Given the description of an element on the screen output the (x, y) to click on. 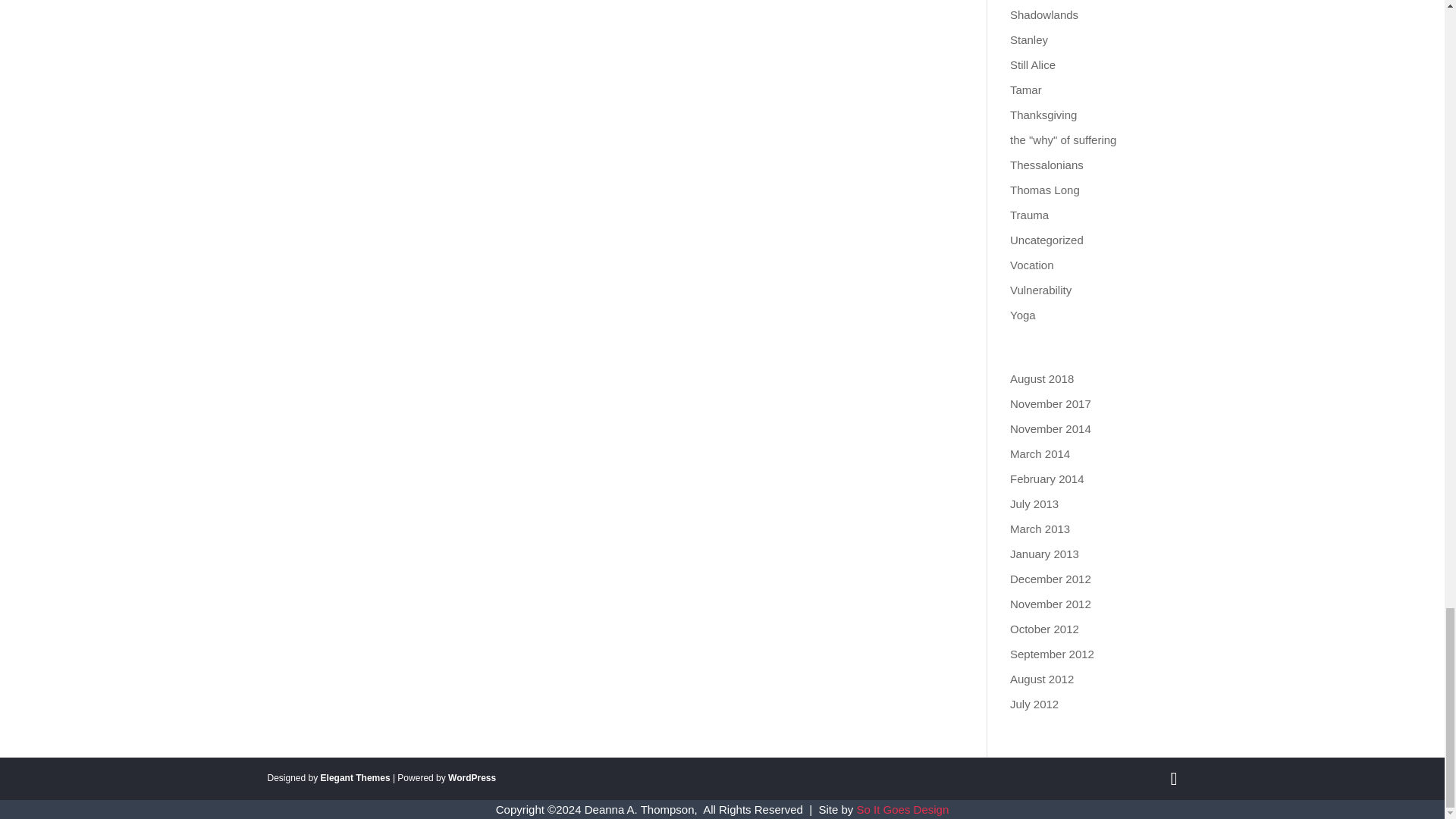
Premium WordPress Themes (355, 777)
